Given the description of an element on the screen output the (x, y) to click on. 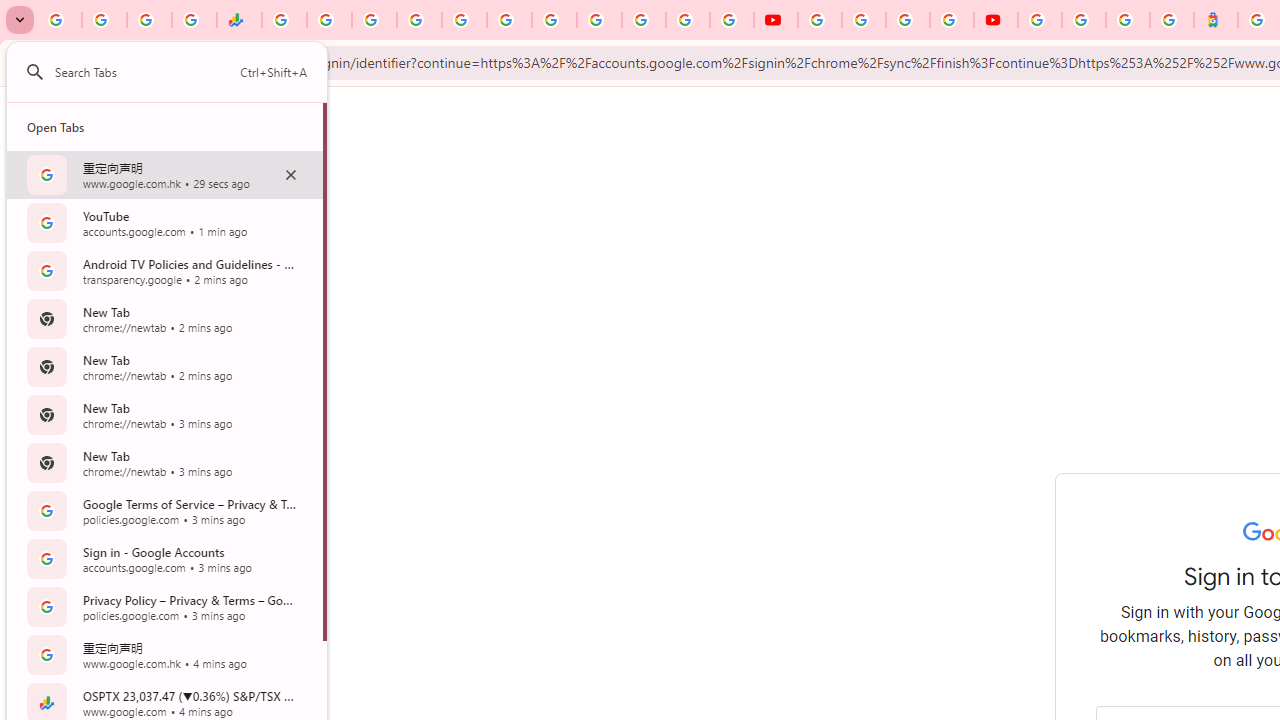
New Tab newtab 3 mins ago Open Tab (164, 462)
